Given the description of an element on the screen output the (x, y) to click on. 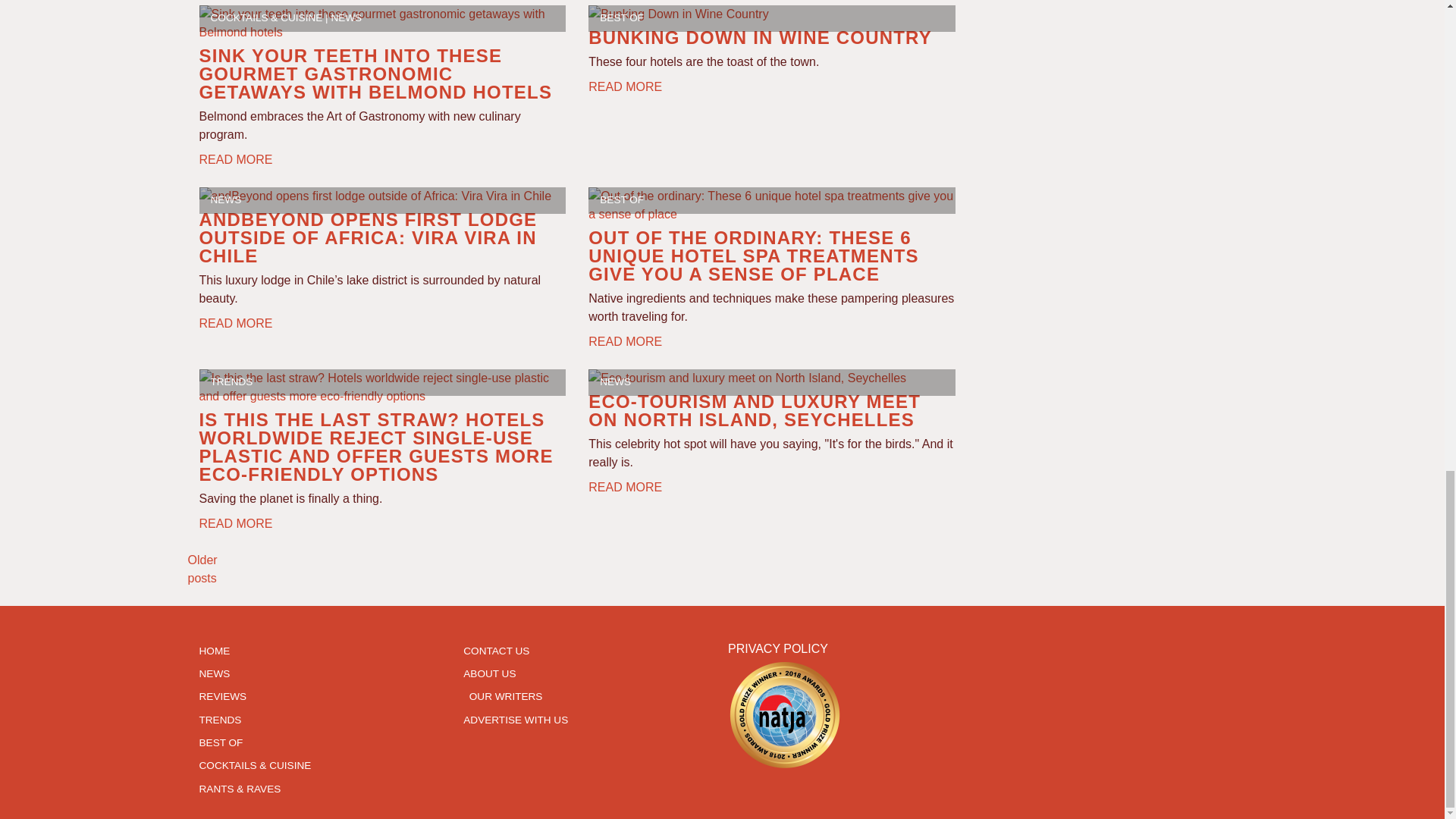
READ MORE (235, 158)
BEST OF (621, 17)
Privacy Policy (778, 648)
NEWS (345, 17)
